Given the description of an element on the screen output the (x, y) to click on. 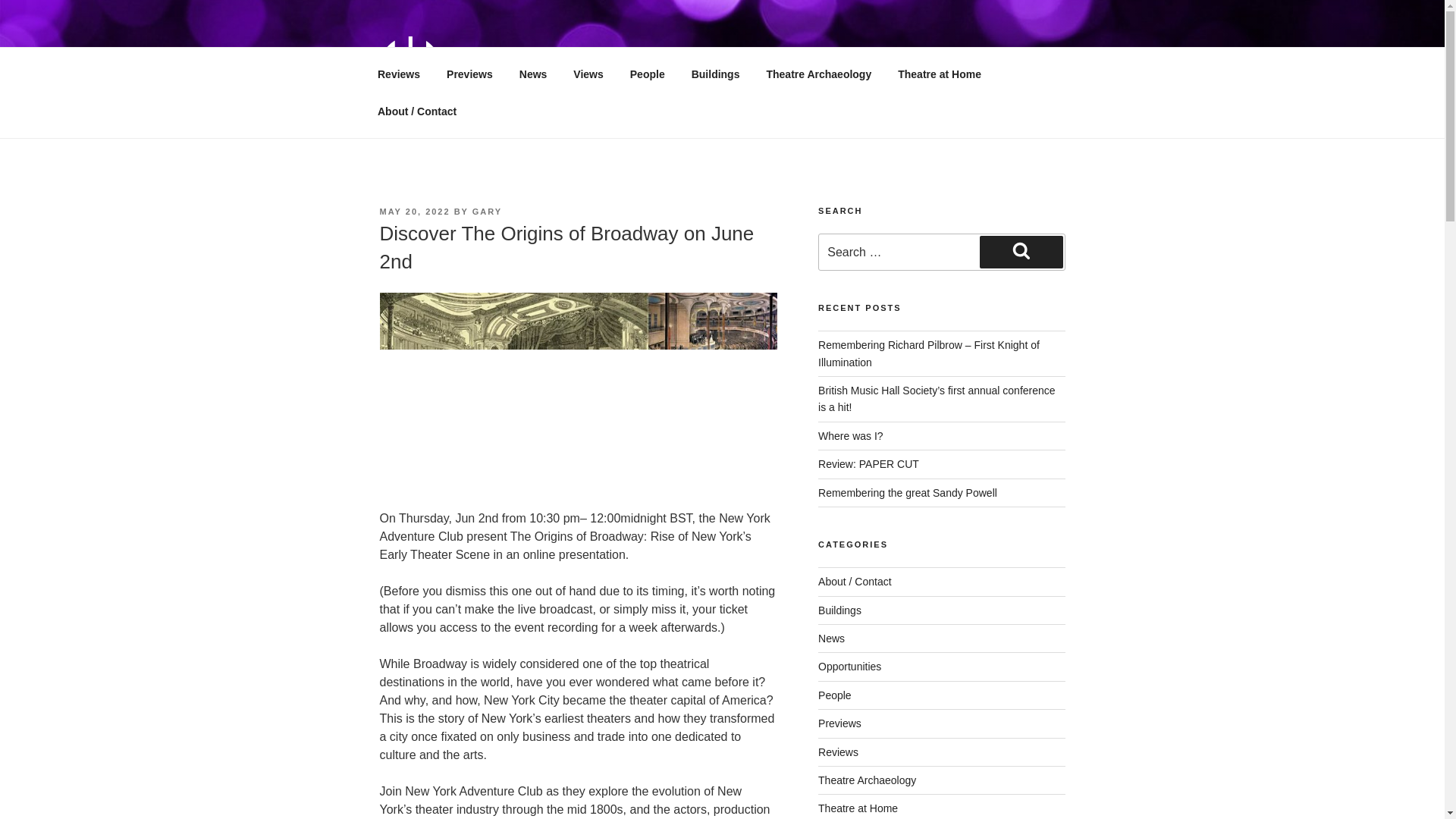
UNRESTRICTED THEATRE (660, 60)
Reviews (398, 74)
News (532, 74)
News (831, 638)
Search (1020, 251)
Previews (839, 723)
Opportunities (849, 666)
Views (587, 74)
Previews (469, 74)
Review: PAPER CUT (868, 463)
